Given the description of an element on the screen output the (x, y) to click on. 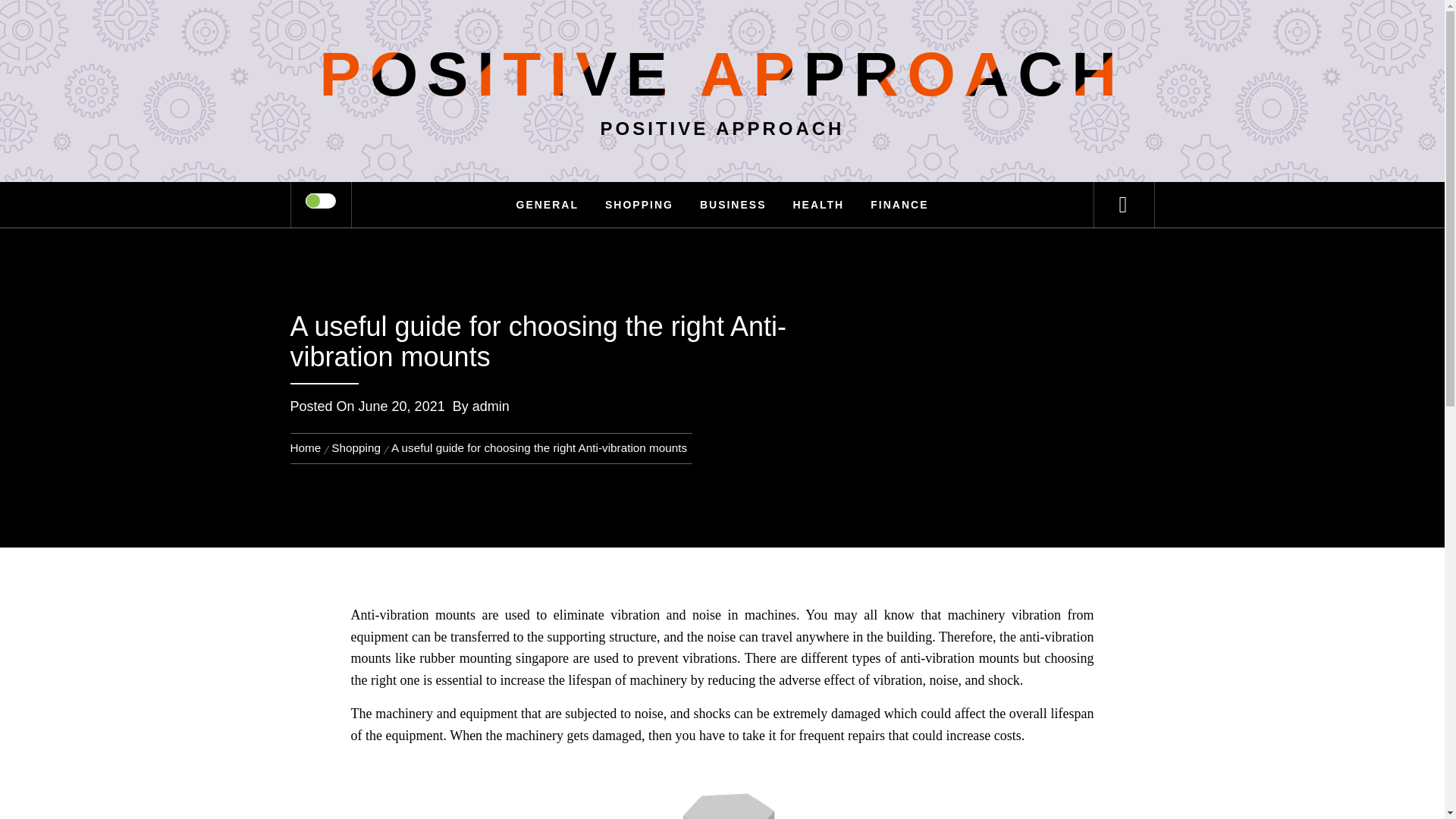
GENERAL (547, 204)
SHOPPING (639, 204)
Home (307, 447)
BUSINESS (732, 204)
HEALTH (818, 204)
admin (490, 406)
June 20, 2021 (401, 406)
POSITIVE APPROACH (721, 73)
Shopping (355, 447)
Search (797, 33)
FINANCE (899, 204)
